Given the description of an element on the screen output the (x, y) to click on. 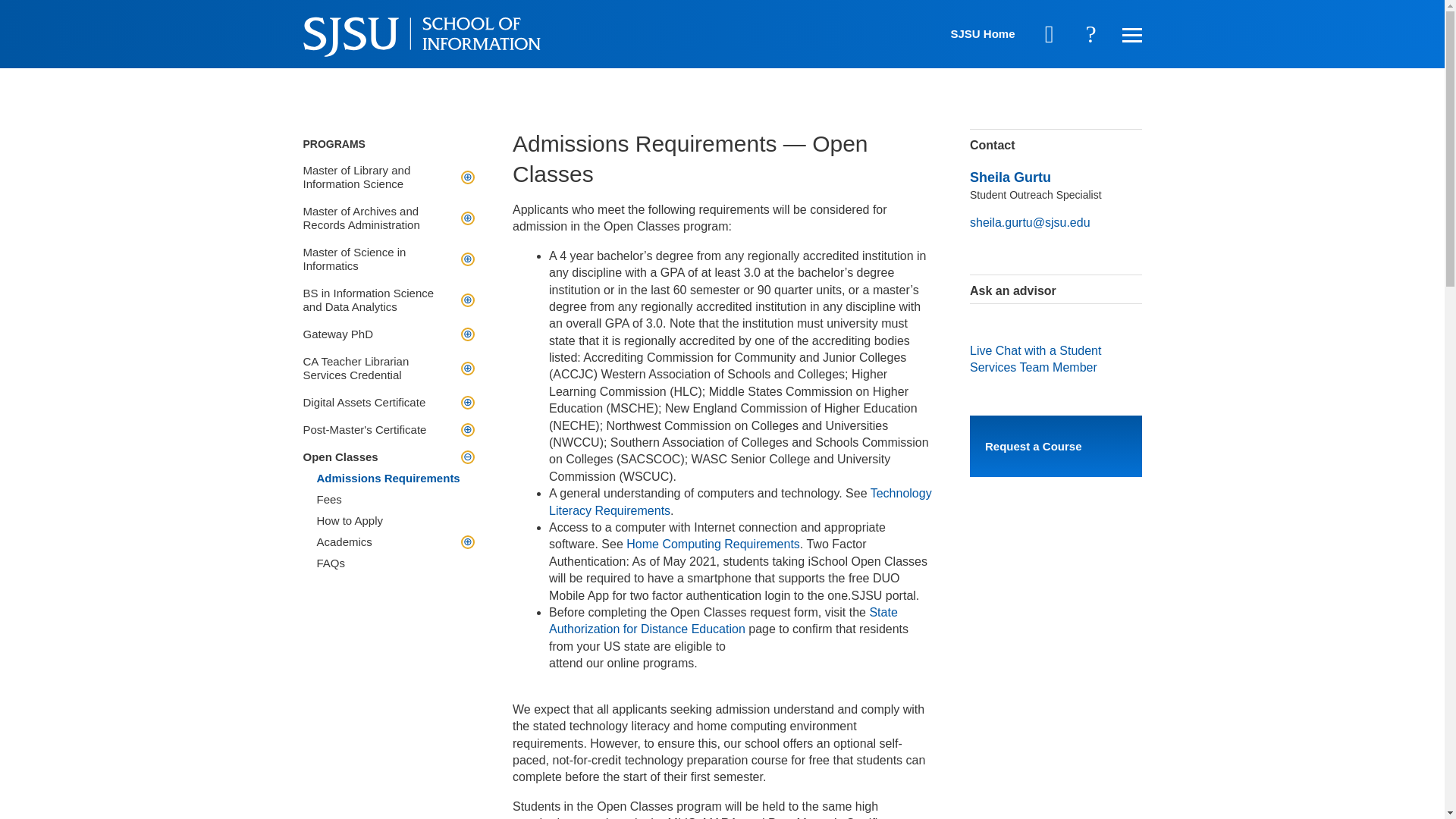
SJSU Home (982, 33)
